Given the description of an element on the screen output the (x, y) to click on. 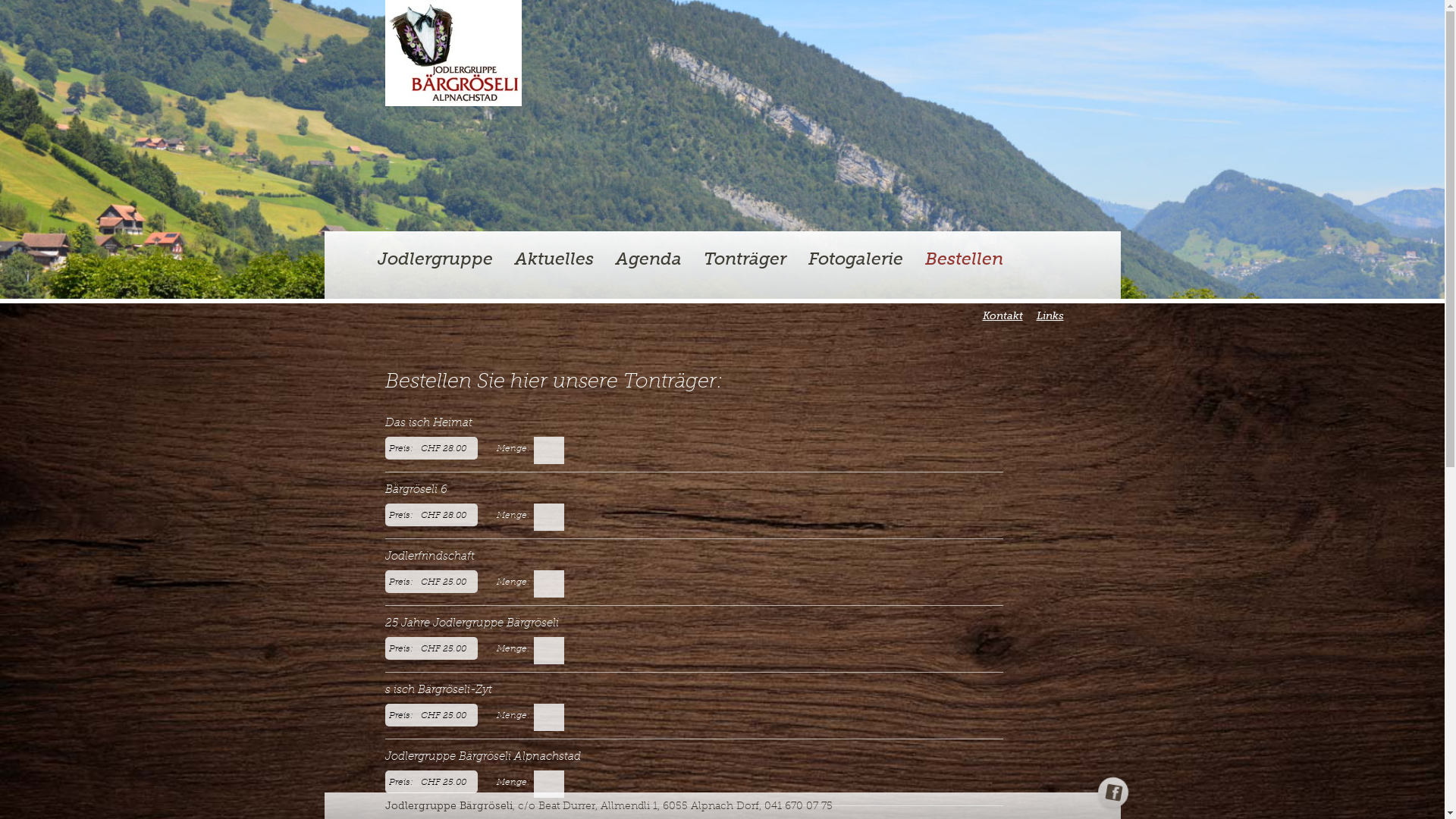
Kontakt Element type: text (1002, 315)
Fotogalerie Element type: text (855, 258)
Aktuelles Element type: text (553, 258)
Agenda Element type: text (648, 258)
Jodlergruppe Element type: text (434, 258)
Bestellen Element type: text (964, 258)
Links Element type: text (1049, 315)
